Given the description of an element on the screen output the (x, y) to click on. 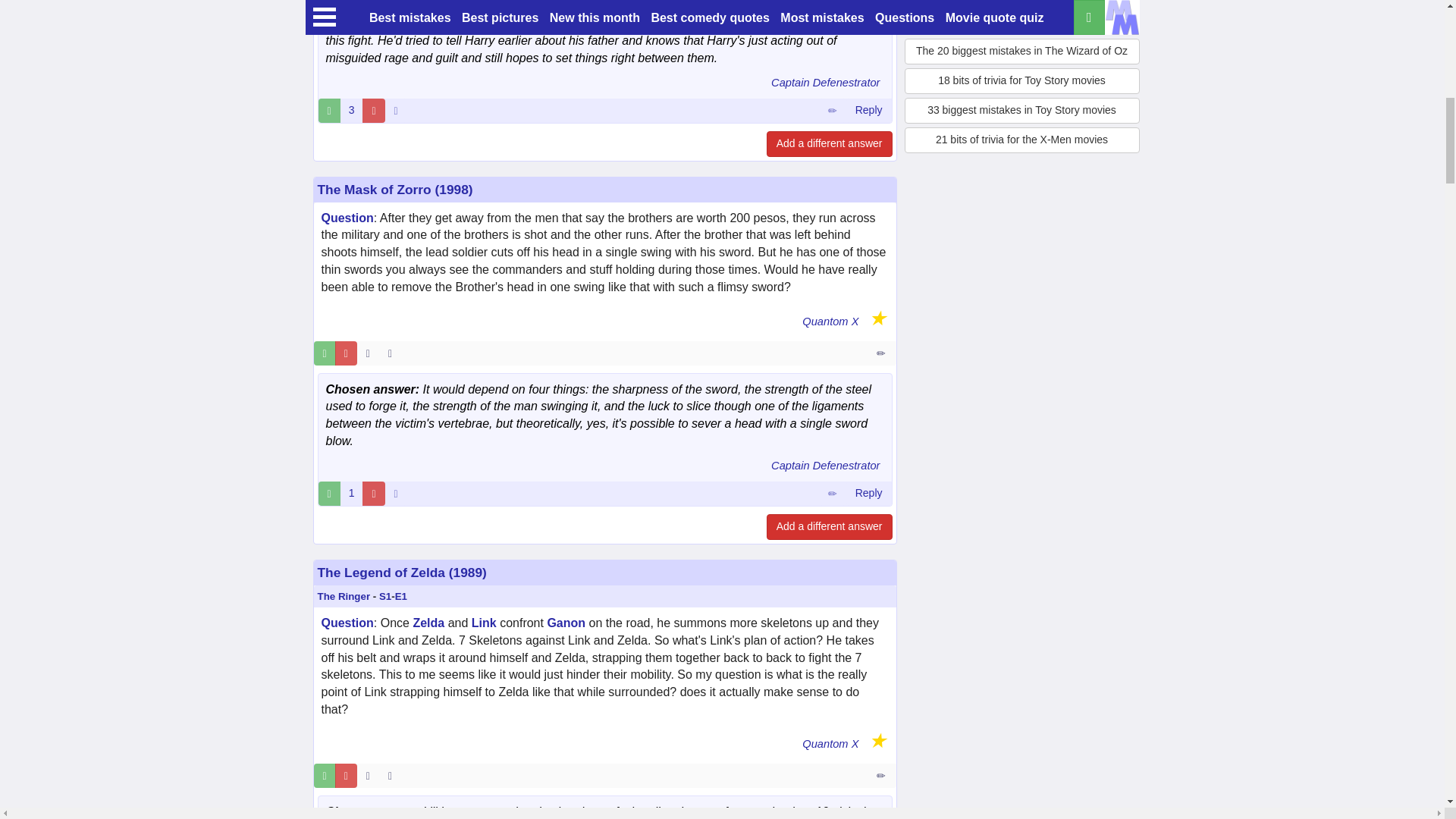
I like this (329, 110)
I dislike this (373, 110)
Edit answer 53773 (831, 110)
Comment on answer 53773 (868, 110)
